Given the description of an element on the screen output the (x, y) to click on. 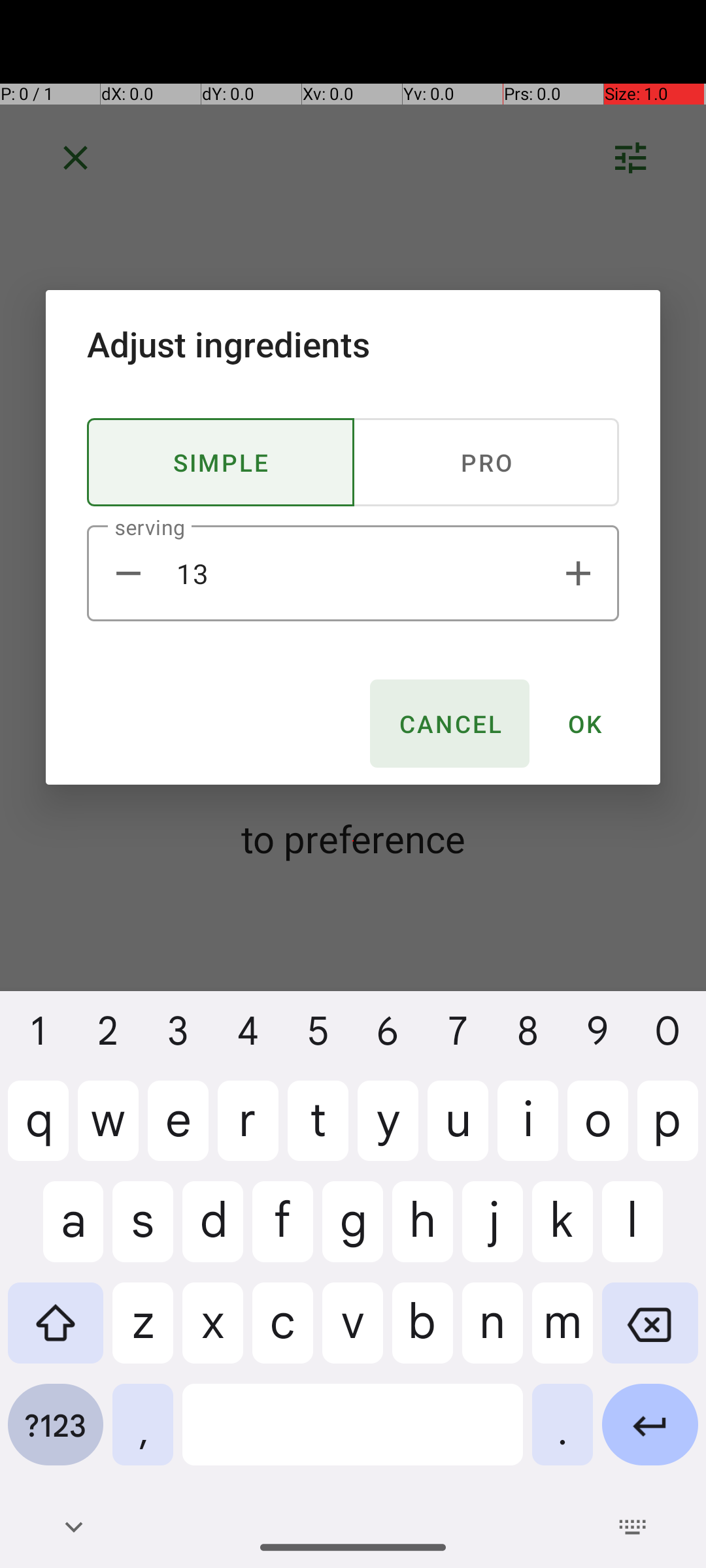
SIMPLE Element type: android.widget.CompoundButton (220, 462)
PRO Element type: android.widget.CompoundButton (485, 462)
